Given the description of an element on the screen output the (x, y) to click on. 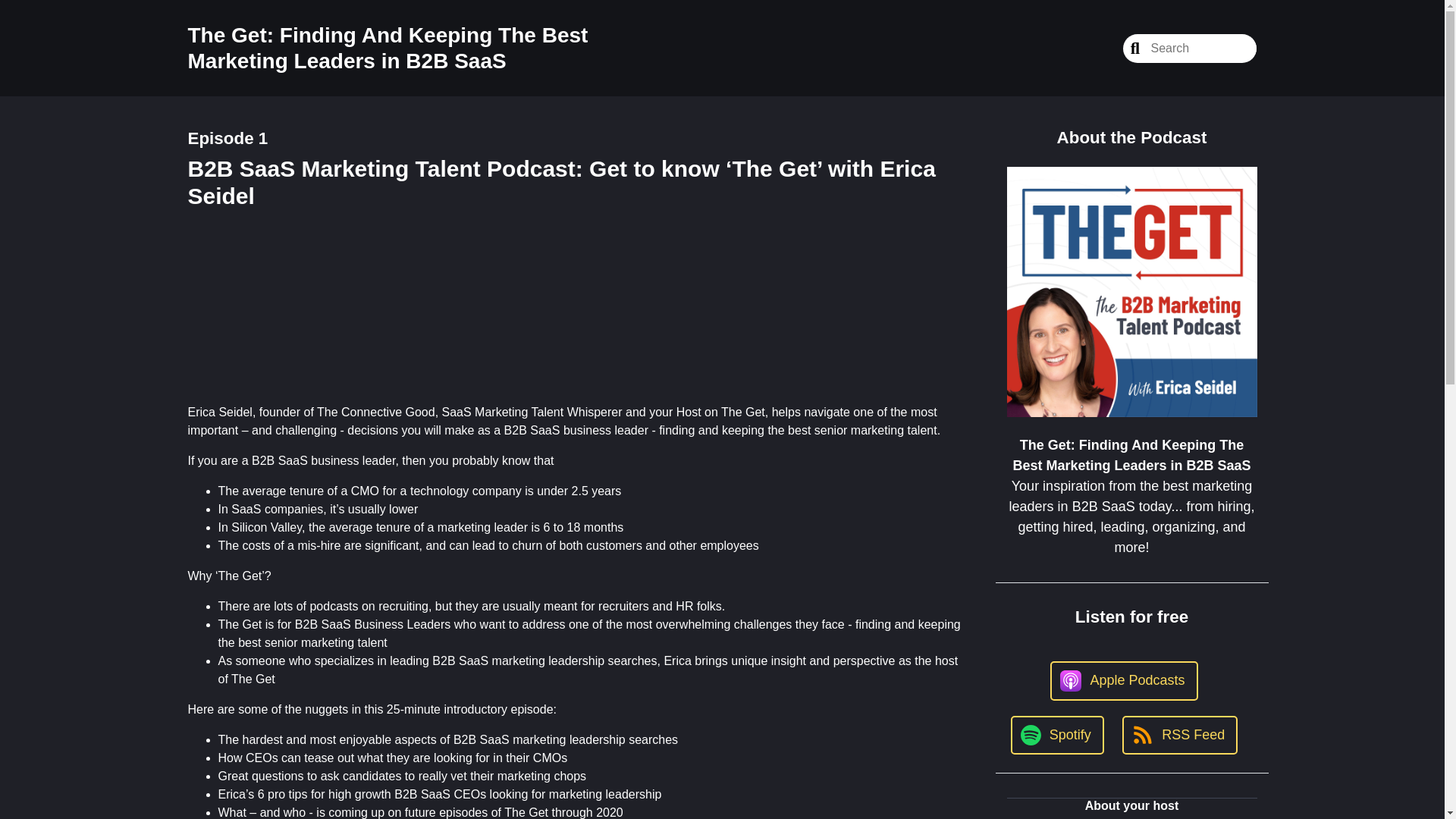
Spotify (1056, 734)
RSS Feed (1179, 734)
Apple Podcasts (1122, 680)
